Given the description of an element on the screen output the (x, y) to click on. 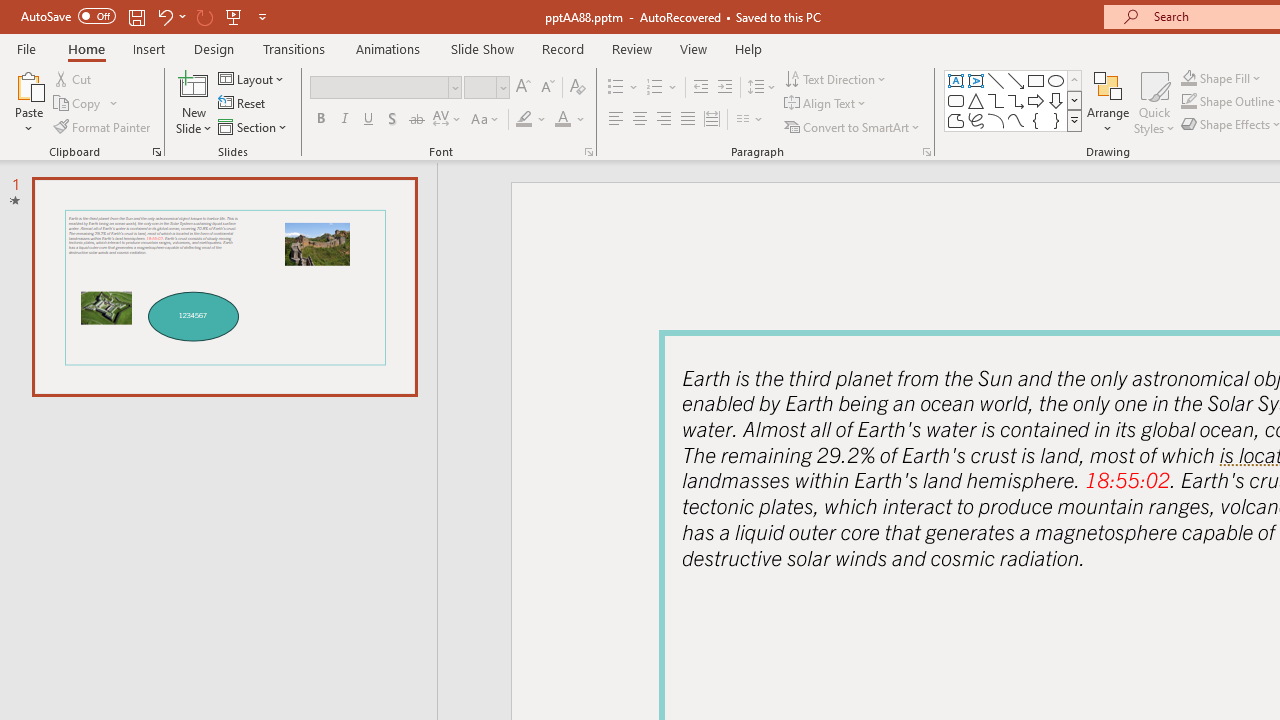
Isosceles Triangle (975, 100)
Vertical Text Box (975, 80)
AutomationID: ShapesInsertGallery (1014, 100)
Decrease Font Size (547, 87)
Reset (243, 103)
Italic (344, 119)
Increase Font Size (522, 87)
